Given the description of an element on the screen output the (x, y) to click on. 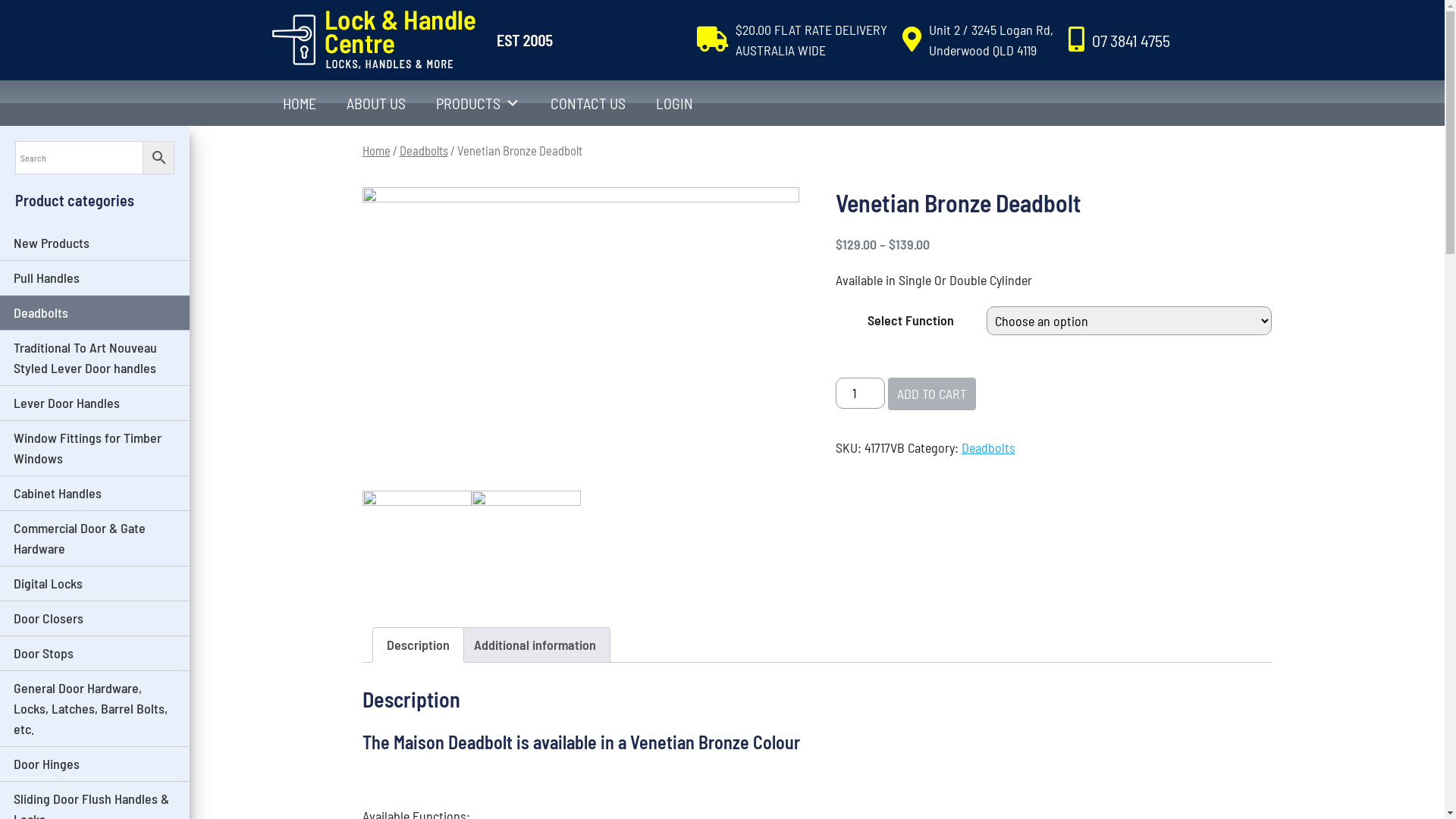
LOGIN Element type: text (673, 102)
20210506_163555 Element type: hover (525, 544)
Home Element type: text (376, 149)
General Door Hardware, Locks, Latches, Barrel Bolts, etc. Element type: text (94, 708)
Commercial Door & Gate Hardware Element type: text (94, 538)
New Products Element type: text (94, 242)
Pull Handles Element type: text (94, 277)
Traditional To Art Nouveau Styled Lever Door handles Element type: text (94, 357)
Window Fittings for Timber Windows Element type: text (94, 448)
Deadbolts Element type: text (94, 312)
Additional information Element type: text (534, 644)
Lever Door Handles Element type: text (94, 402)
ABOUT US Element type: text (375, 102)
PRODUCTS Element type: text (477, 102)
Door Hinges Element type: text (94, 763)
Door Closers Element type: text (94, 618)
Digital Locks Element type: text (94, 583)
Description Element type: text (417, 644)
ADD TO CART Element type: text (931, 393)
07 3841 4755 Element type: text (1131, 40)
20210506_163615 Element type: hover (416, 544)
Cabinet Handles Element type: text (94, 493)
Deadbolts Element type: text (988, 447)
Door Stops Element type: text (94, 653)
Deadbolts Element type: text (422, 149)
CONTACT US Element type: text (587, 102)
maison deadbolt Element type: hover (580, 338)
HOME Element type: text (298, 102)
